Given the description of an element on the screen output the (x, y) to click on. 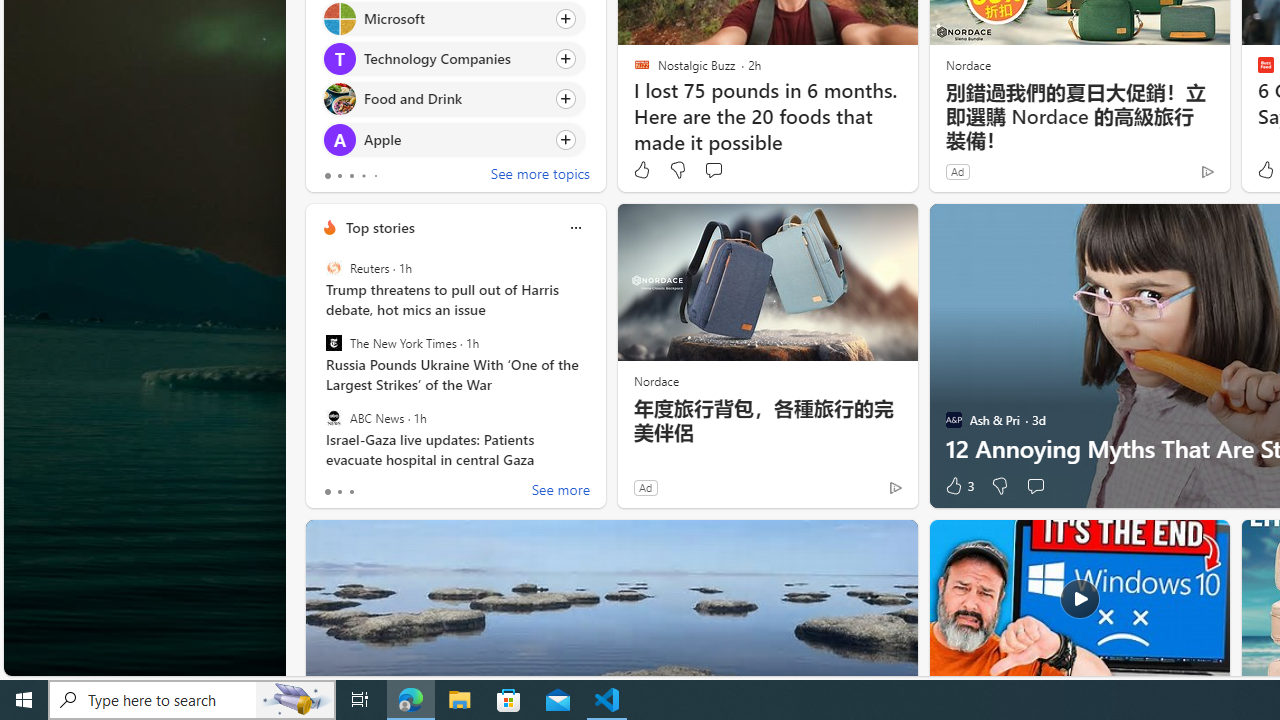
Microsoft (338, 18)
Click to follow topic Food and Drink (453, 99)
tab-4 (374, 175)
Reuters (333, 268)
Click to follow topic Microsoft (453, 18)
tab-2 (351, 491)
3 Like (957, 485)
